Given the description of an element on the screen output the (x, y) to click on. 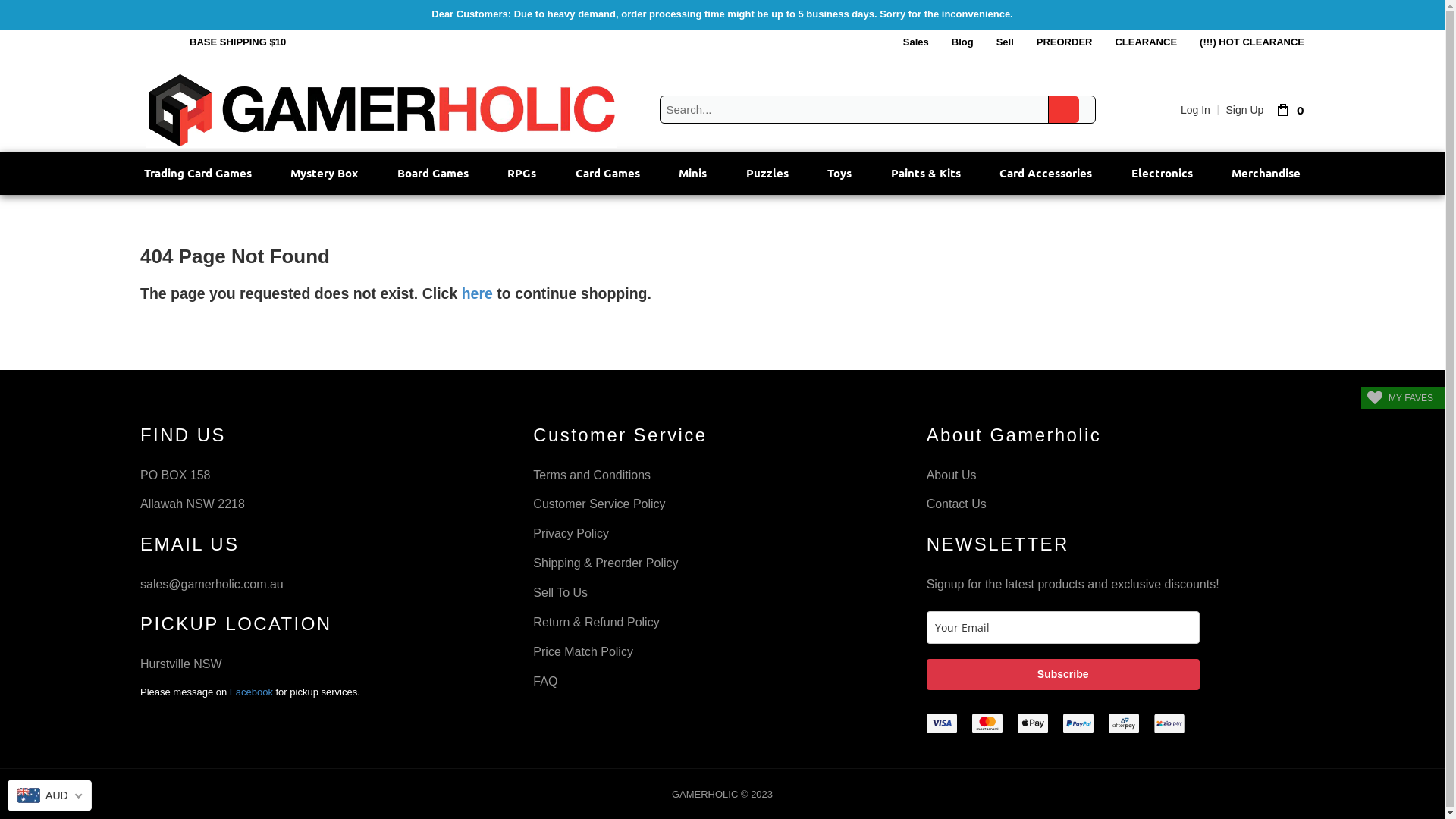
BASE SHIPPING $10 Element type: text (237, 42)
Customer Service Policy Element type: text (721, 504)
Minis Element type: text (692, 172)
Privacy Policy Element type: text (721, 533)
0 Element type: text (1287, 109)
FAQ Element type: text (721, 681)
Toys Element type: text (839, 172)
Return & Refund Policy Element type: text (721, 622)
Log In Element type: text (1195, 109)
(!!!) HOT CLEARANCE Element type: text (1251, 42)
Merchandise Element type: text (1265, 172)
Sell To Us Element type: text (721, 593)
Mystery Box Element type: text (324, 172)
Price Match Policy Element type: text (721, 652)
Puzzles Element type: text (767, 172)
Trading Card Games Element type: text (197, 172)
Terms and Conditions Element type: text (721, 475)
Facebook Element type: text (251, 691)
Shipping & Preorder Policy Element type: text (721, 563)
Sales Element type: text (915, 42)
CLEARANCE Element type: text (1145, 42)
PREORDER Element type: text (1064, 42)
Card Accessories Element type: text (1045, 172)
Paints & Kits Element type: text (925, 172)
Blog Element type: text (962, 42)
MY FAVES Element type: text (1402, 397)
here Element type: text (476, 293)
Electronics Element type: text (1162, 172)
RPGs Element type: text (521, 172)
About Us Element type: text (1115, 475)
Board Games Element type: text (432, 172)
Card Games Element type: text (607, 172)
Contact Us Element type: text (1115, 504)
Sign Up Element type: text (1245, 109)
Sell Element type: text (1005, 42)
Subscribe Element type: text (1062, 674)
